Given the description of an element on the screen output the (x, y) to click on. 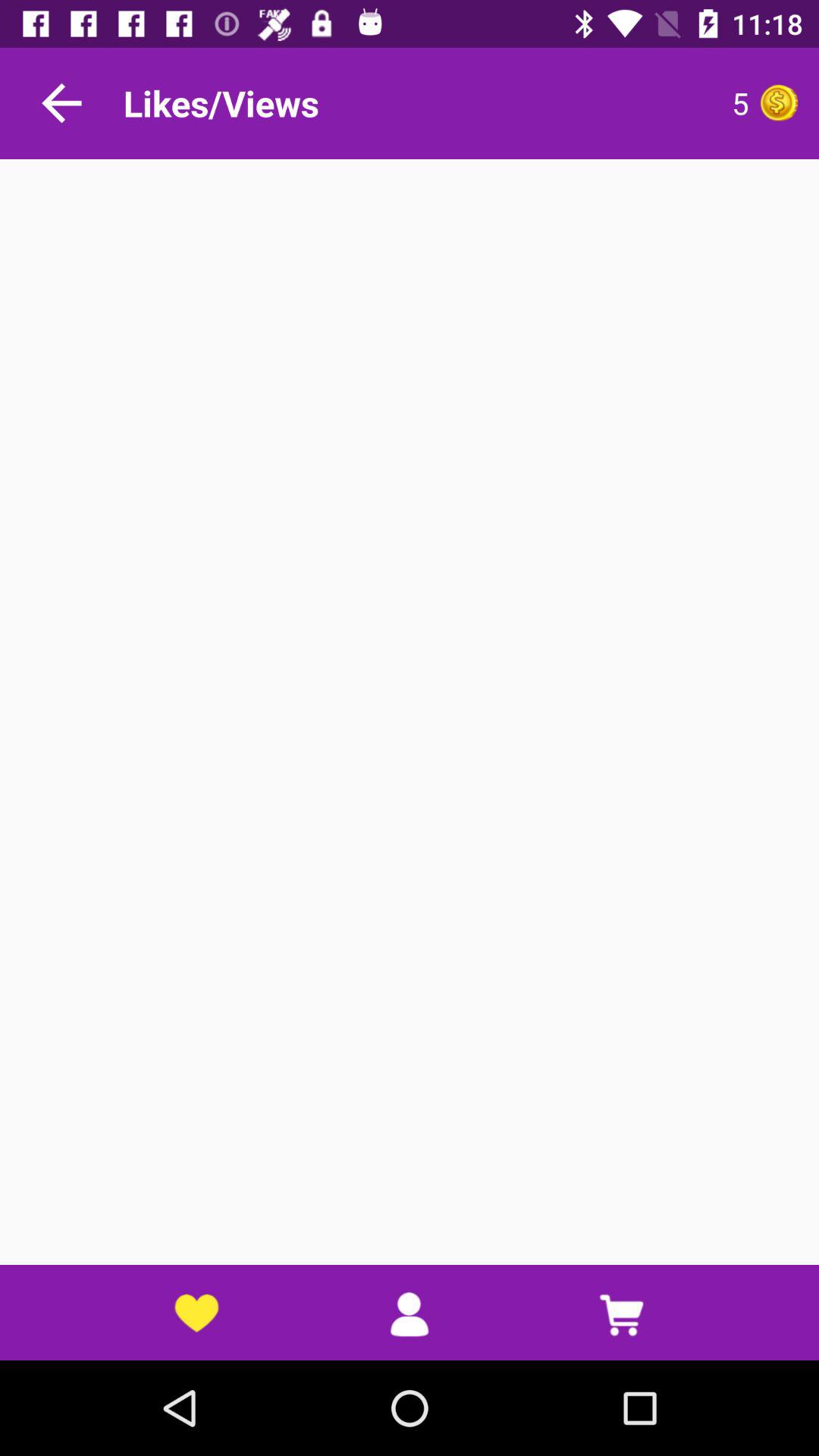
earn points (779, 102)
